Given the description of an element on the screen output the (x, y) to click on. 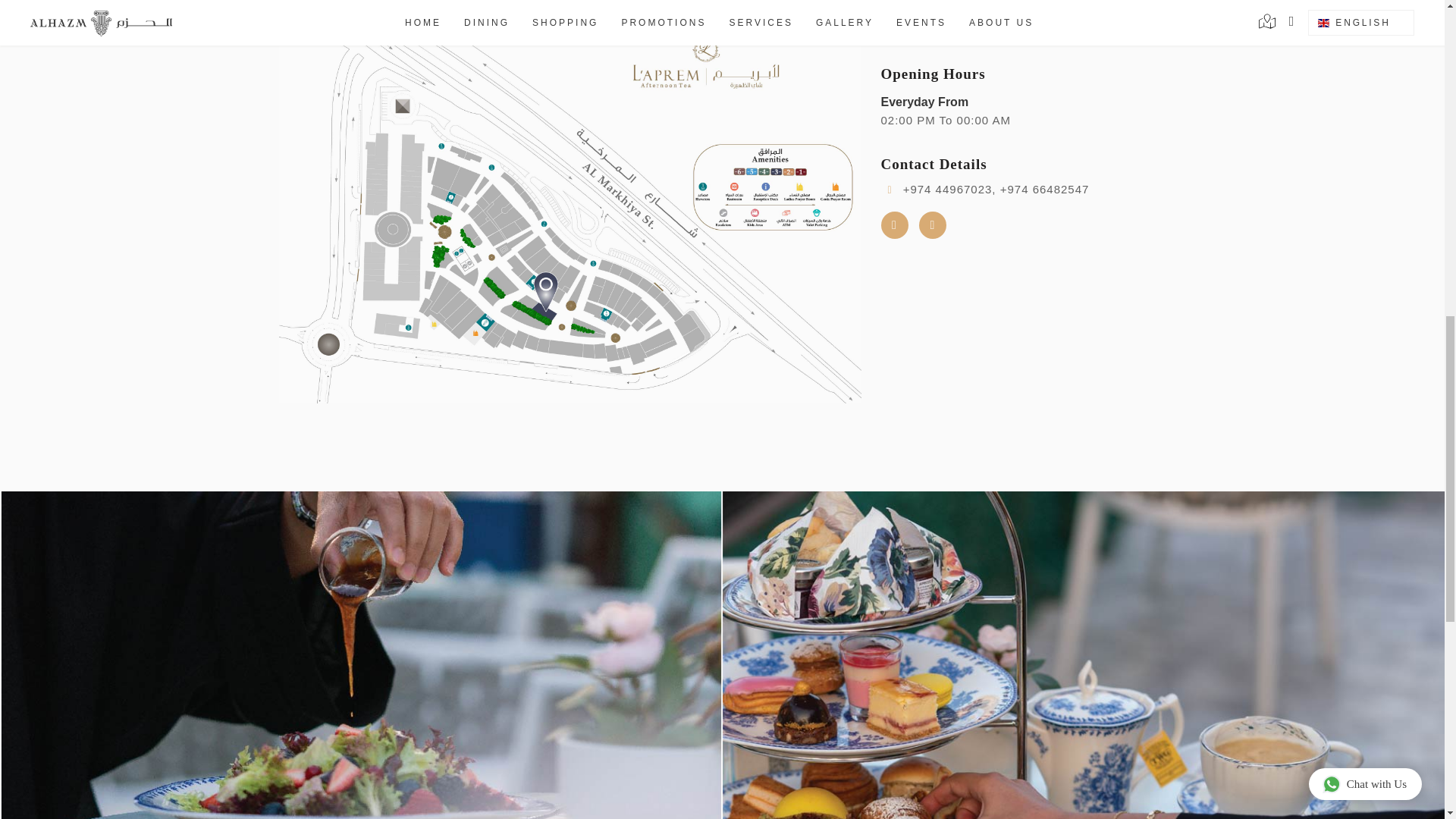
SHARE (1081, 18)
MENU (945, 18)
